Given the description of an element on the screen output the (x, y) to click on. 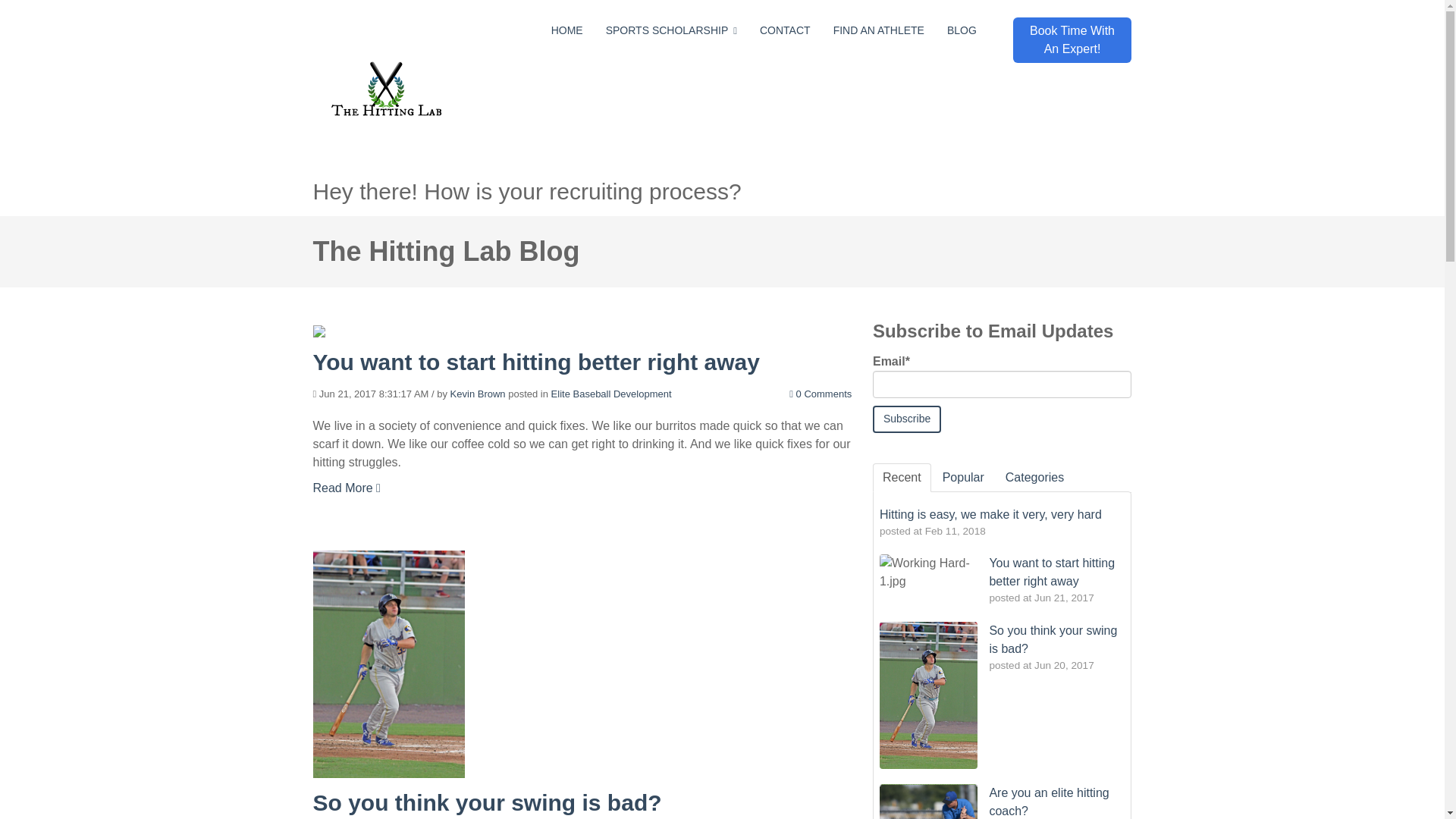
9cd8d014-4bf2-4574-9f83-75be6a0d6f57 (388, 91)
Read More (346, 486)
You want to start hitting better right away (535, 361)
CONTACT (785, 30)
BLOG (961, 30)
HOME (567, 30)
Subscribe (906, 419)
So you think your swing is bad? (487, 802)
Book Time With An Expert! (1072, 40)
Kevin Brown (477, 393)
SPORTS SCHOLARSHIP (671, 30)
Book Time With An Expert! (1072, 40)
0 Comments (820, 393)
FIND AN ATHLETE (878, 30)
Elite Baseball Development (611, 393)
